Given the description of an element on the screen output the (x, y) to click on. 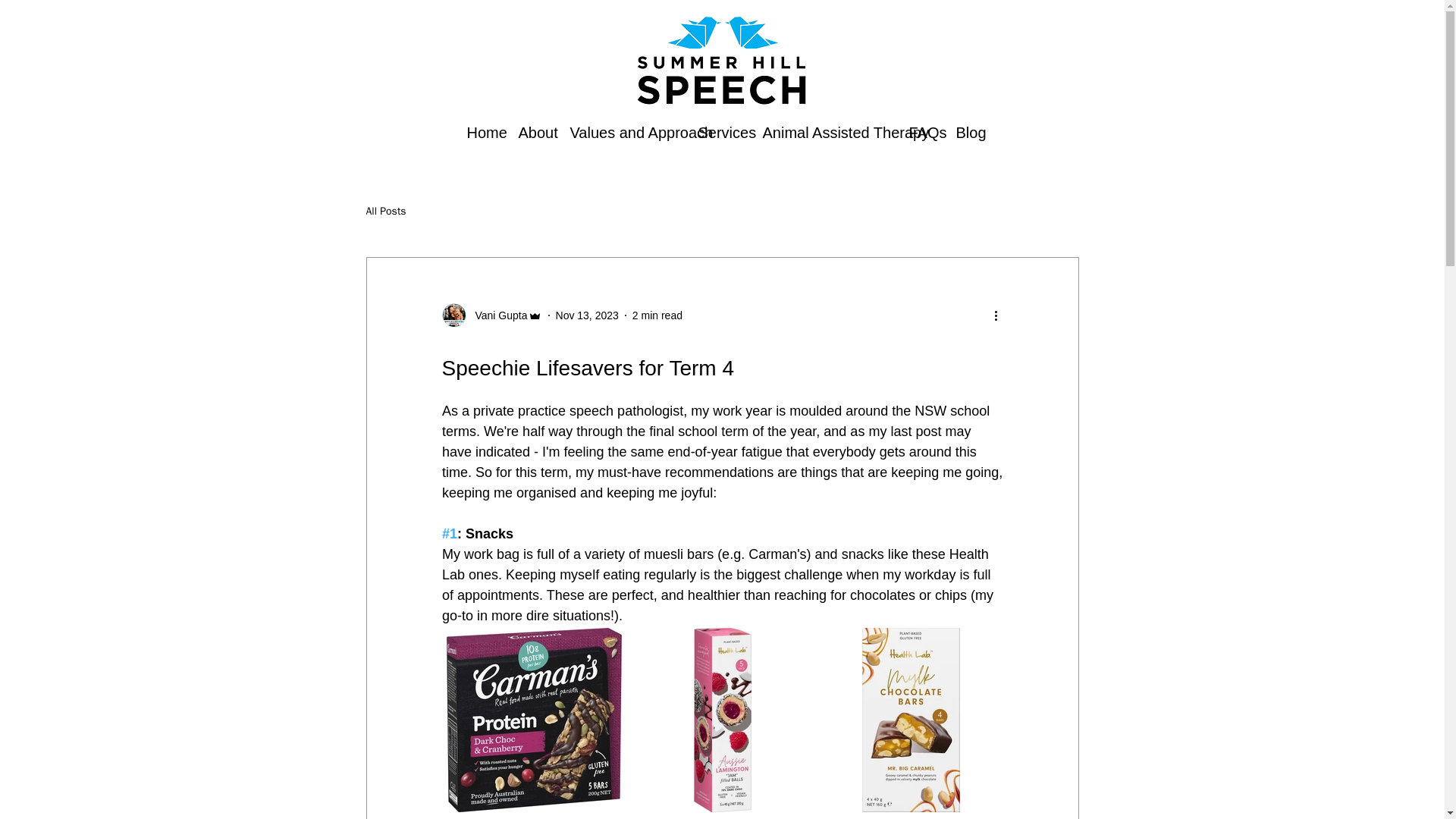
Blog (967, 132)
Animal Assisted Therapy (823, 132)
Vani Gupta (496, 315)
About (531, 132)
Services (719, 132)
Vani Gupta (491, 315)
FAQs (921, 132)
Values and Approach (621, 132)
2 min read (656, 315)
Nov 13, 2023 (587, 315)
All Posts (385, 211)
Home (480, 132)
